Given the description of an element on the screen output the (x, y) to click on. 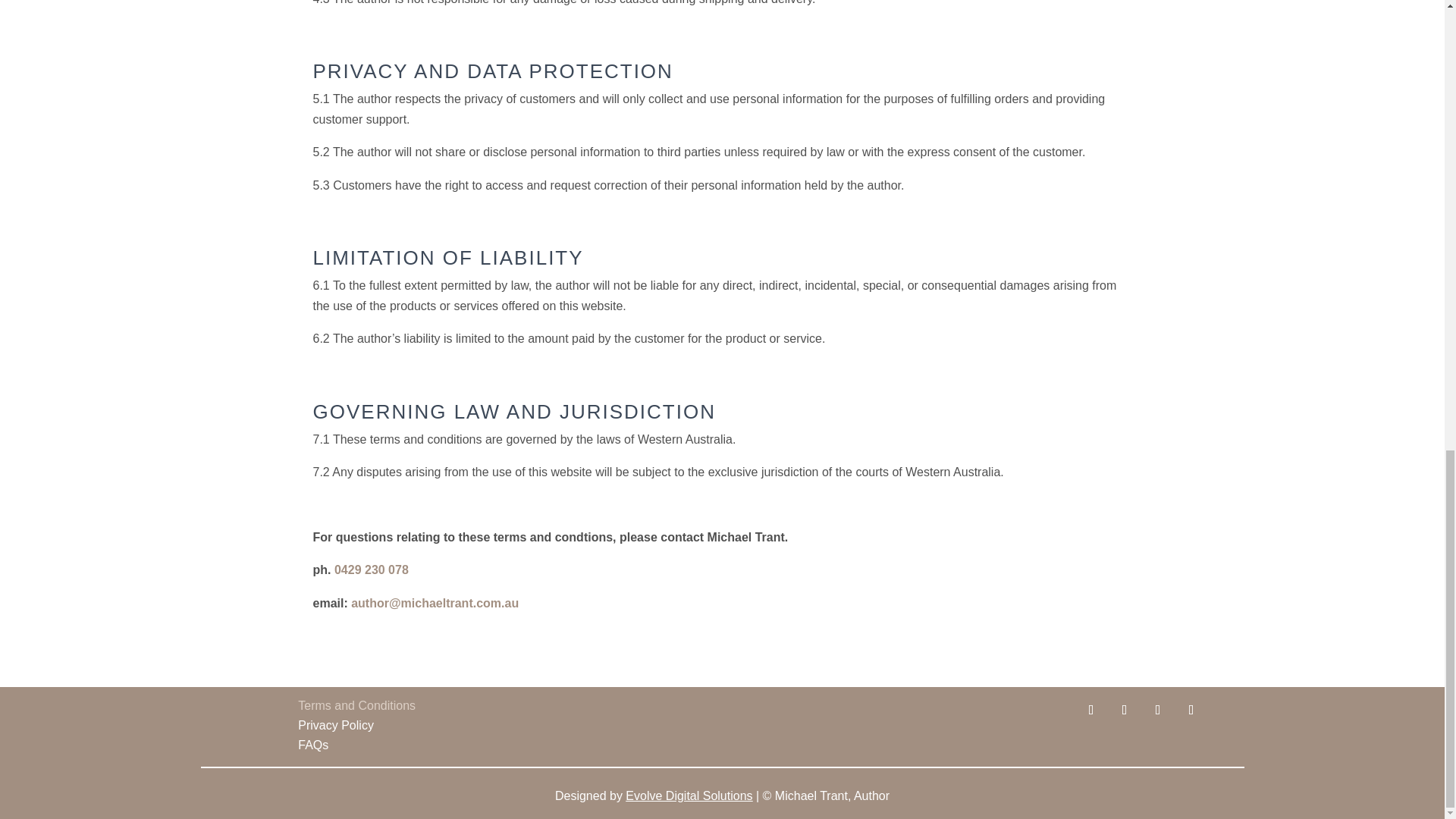
Follow on Twitter (1124, 709)
FAQs (376, 748)
Terms and Conditions (376, 708)
Follow on TikTok (1158, 709)
Follow on Instagram (1191, 709)
Follow on Facebook (1091, 709)
Privacy Policy (376, 728)
0429 230 078 (371, 569)
Evolve Digital Solutions (689, 795)
